Given the description of an element on the screen output the (x, y) to click on. 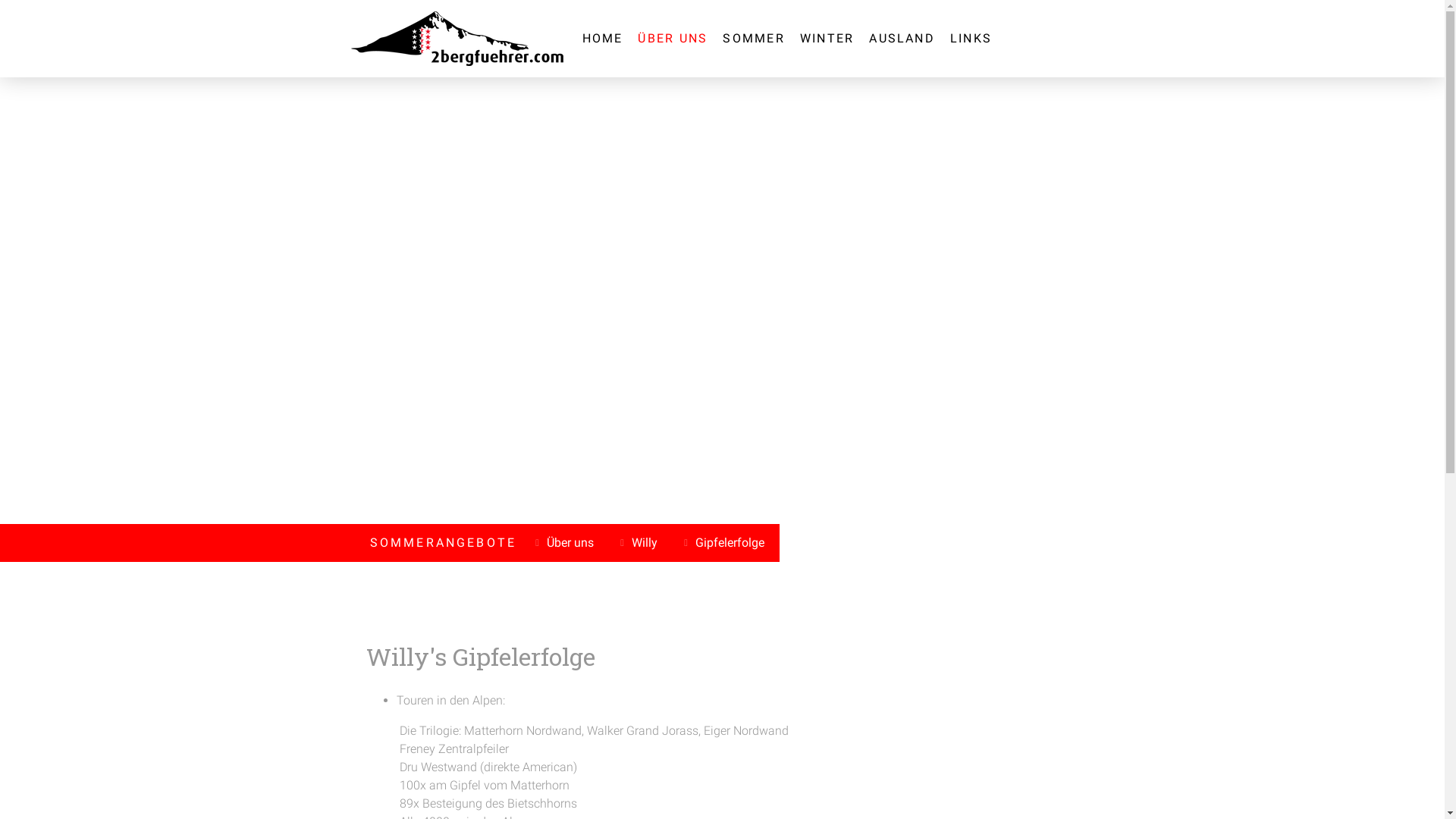
SOMMERANGEBOTE Element type: text (443, 542)
HOME Element type: text (602, 38)
AUSLAND Element type: text (901, 38)
WINTER Element type: text (826, 38)
Gipfelerfolge Element type: text (725, 542)
Willy Element type: text (640, 542)
SOMMER Element type: text (753, 38)
LINKS Element type: text (970, 38)
